Given the description of an element on the screen output the (x, y) to click on. 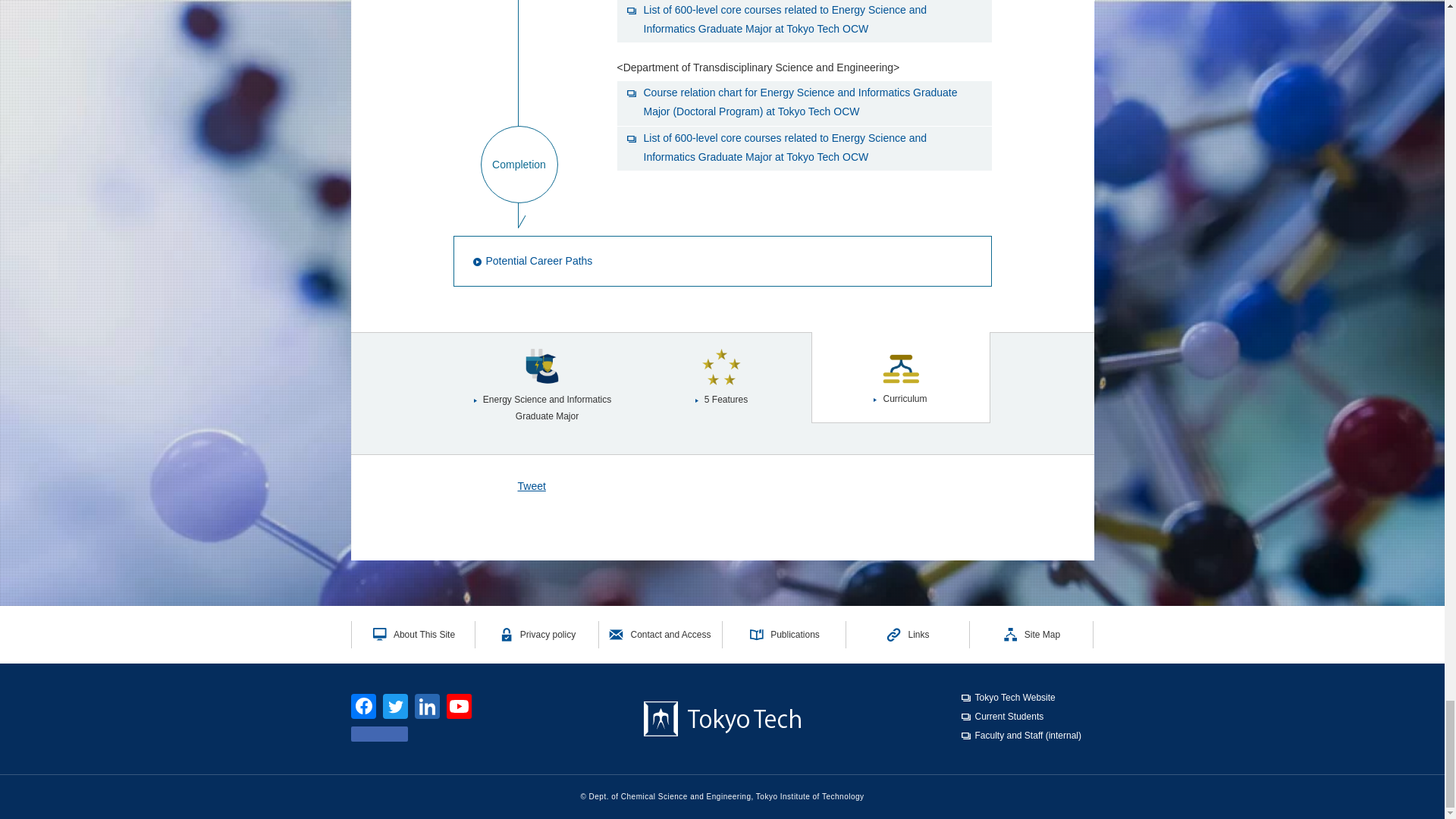
Facebook logo (362, 706)
YouTube logo (458, 706)
Tokyo Tech (721, 718)
Twitter logo (394, 706)
Twitter Tweet Button (485, 734)
LinkedIn logo (426, 706)
